Given the description of an element on the screen output the (x, y) to click on. 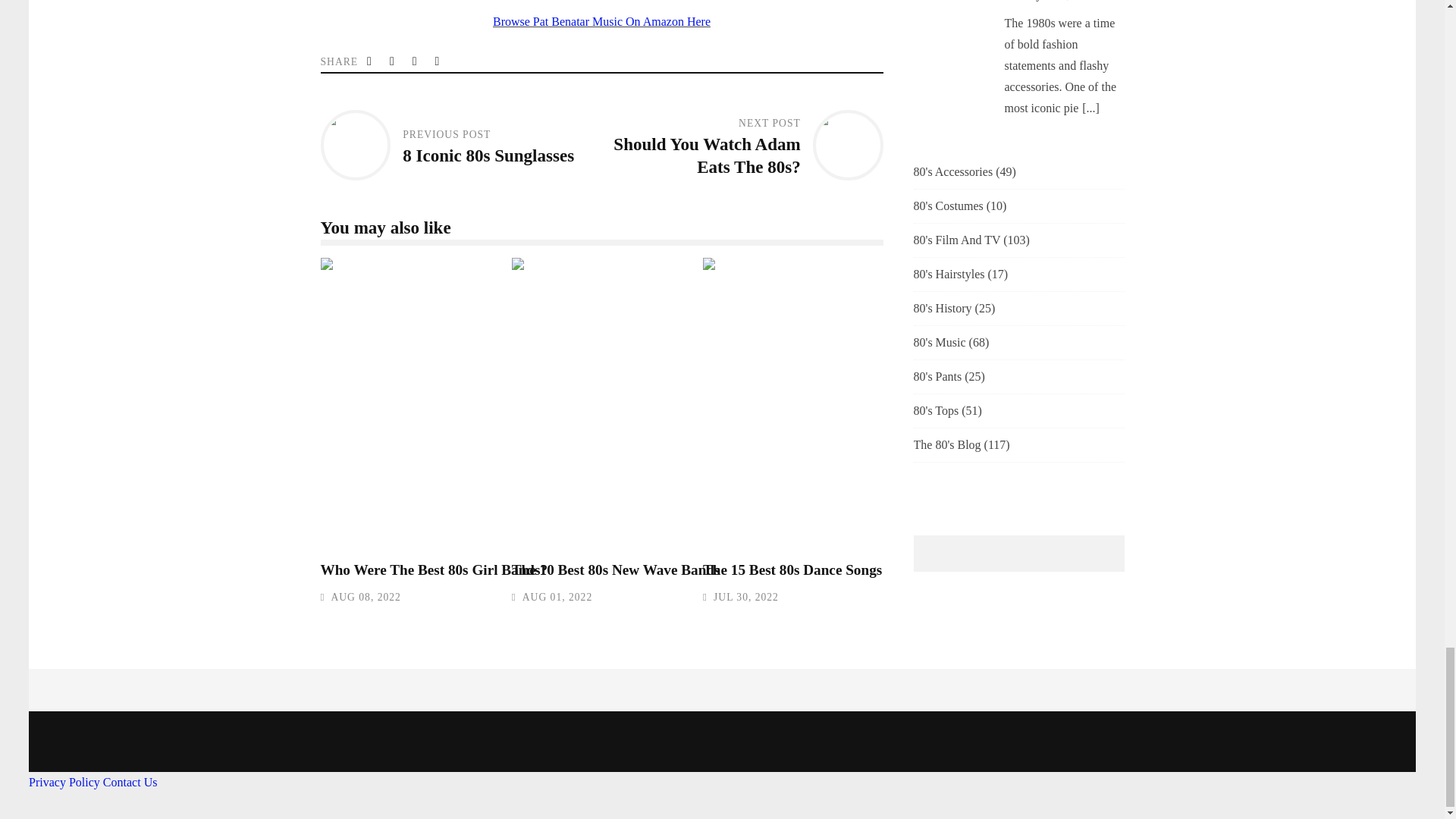
Who Were The Best 80s Girl Bands? (433, 569)
Tweet This! (370, 61)
Pin this! (438, 61)
Share on LinkedIn (416, 61)
The 10 Best 80s New Wave Bands (730, 402)
Tweet This! (370, 61)
Pin this! (438, 61)
The 10 Best 80s New Wave Bands (616, 569)
8 Iconic 80s Sunglasses (488, 155)
The 15 Best 80s Dance Songs (921, 402)
Share on LinkedIn (416, 61)
Browse Pat Benatar Music On Amazon Here (601, 21)
Share on Facebook (393, 61)
The 15 Best 80s Dance Songs (792, 569)
Share on Facebook (393, 61)
